Given the description of an element on the screen output the (x, y) to click on. 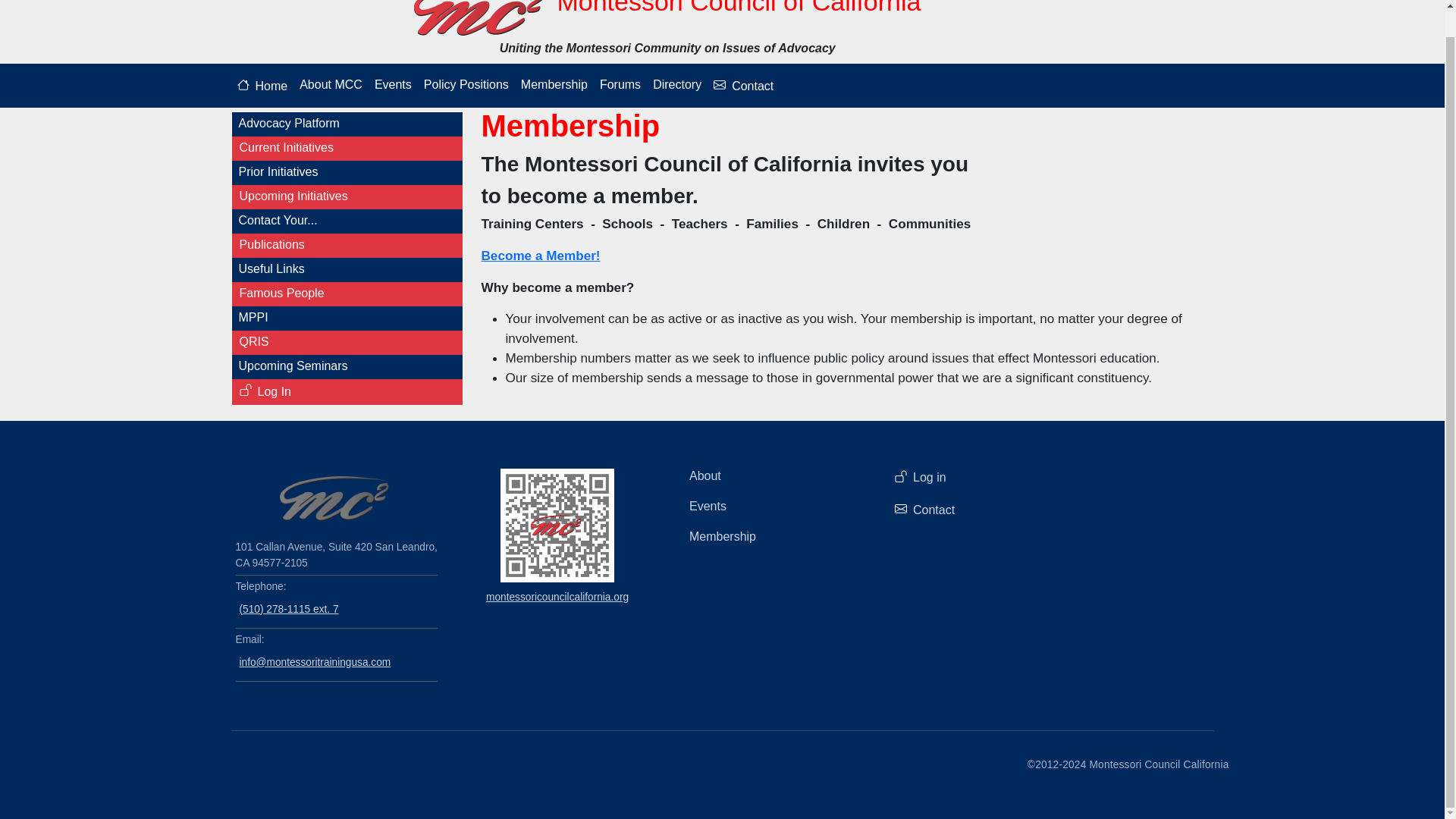
Membership (774, 536)
Current Initiatives (347, 147)
Montessori Public Policy Initiative (346, 317)
MPPI (346, 317)
About (774, 476)
Upcoming Seminars (346, 365)
Prior Initiatives (346, 171)
Contact Your... (346, 220)
Publications (347, 244)
Famous People (347, 292)
Contact (742, 85)
Advocacy Platform (346, 123)
Directory (676, 84)
Policy Positions (466, 84)
montessoricouncilcalifornia.org (557, 596)
